Given the description of an element on the screen output the (x, y) to click on. 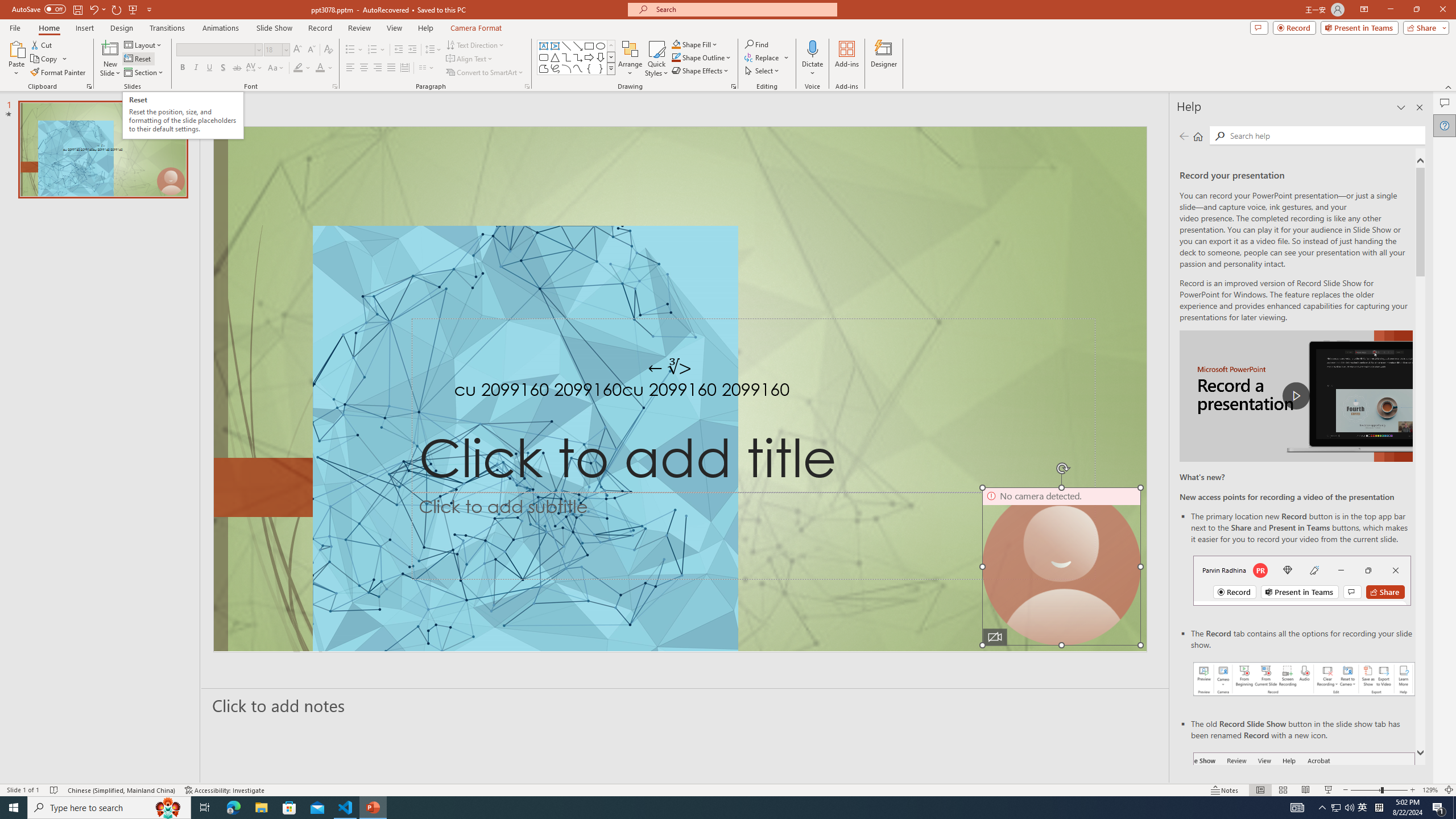
Text Highlight Color Yellow (297, 67)
Isosceles Triangle (554, 57)
Line (566, 45)
Record button in top bar (1301, 580)
Camera 9, No camera detected. (1061, 566)
Arrow: Down (600, 57)
Replace... (762, 56)
Paste (16, 48)
Select (762, 69)
Open (285, 49)
